Given the description of an element on the screen output the (x, y) to click on. 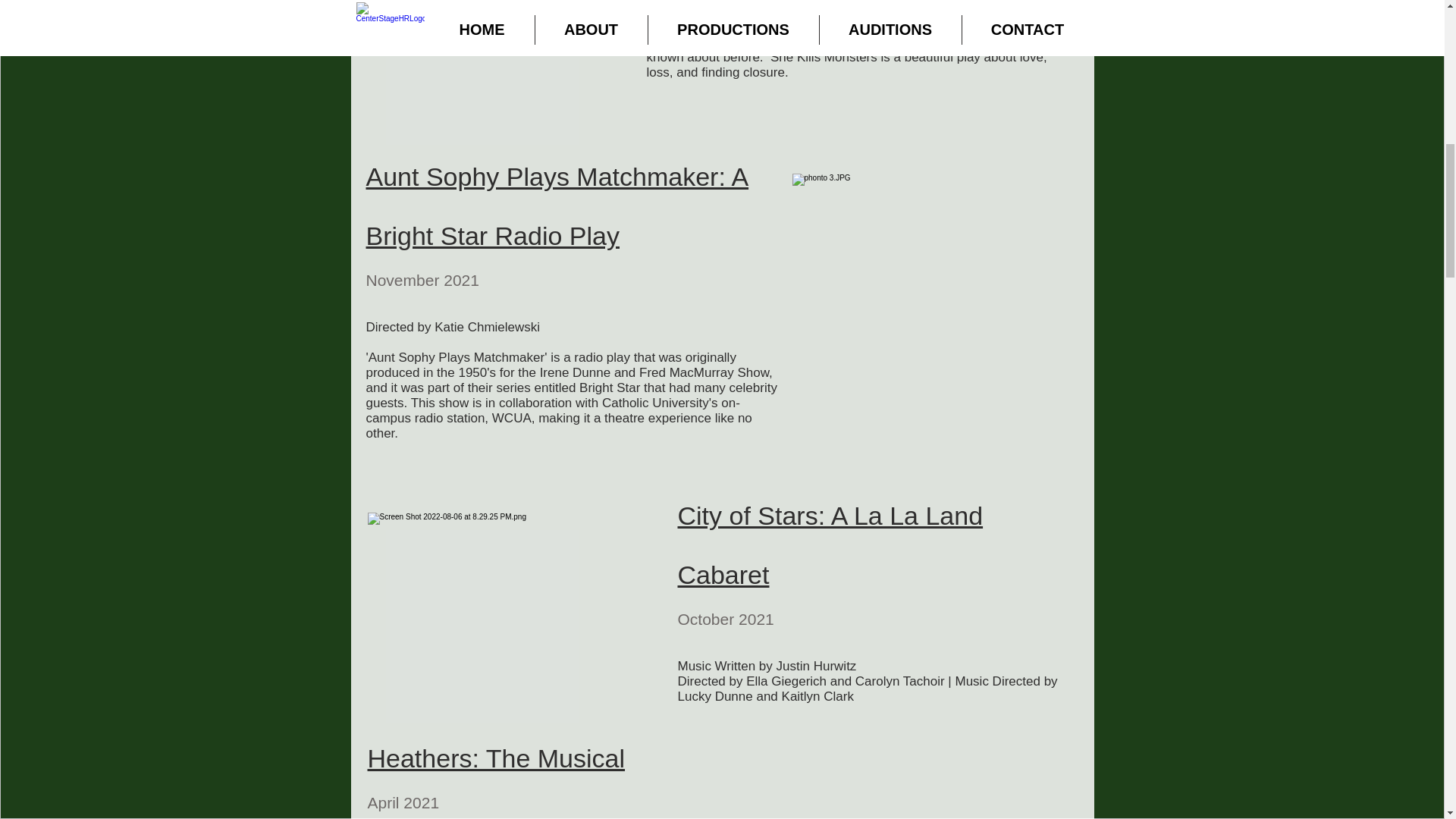
City of Stars: A La La Land Cabaret (831, 544)
Heathers: The Musical (495, 758)
Aunt Sophy Plays Matchmaker: A Bright Star Radio Play (556, 206)
